Given the description of an element on the screen output the (x, y) to click on. 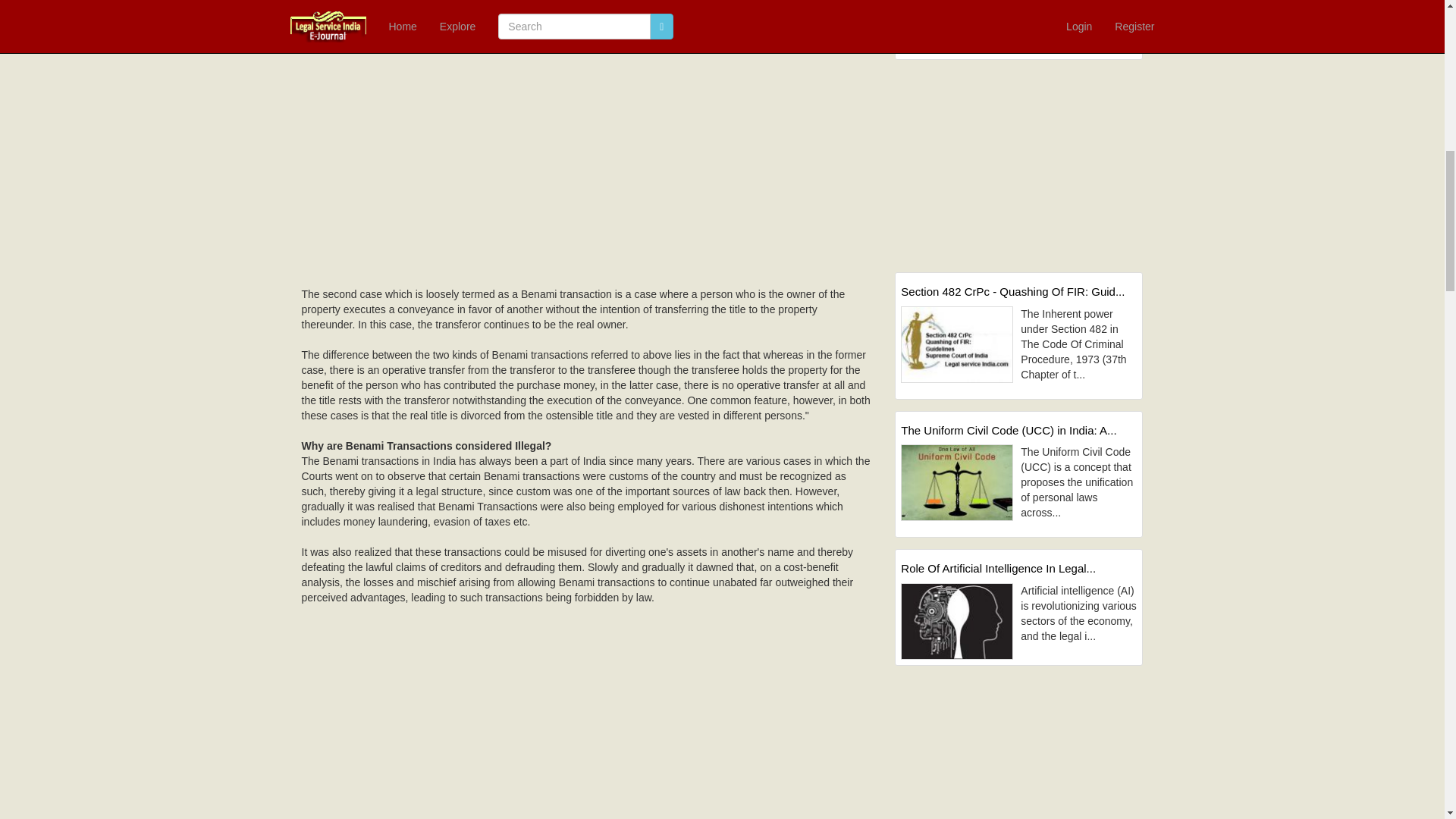
Advertisement (586, 151)
Advertisement (586, 712)
